Given the description of an element on the screen output the (x, y) to click on. 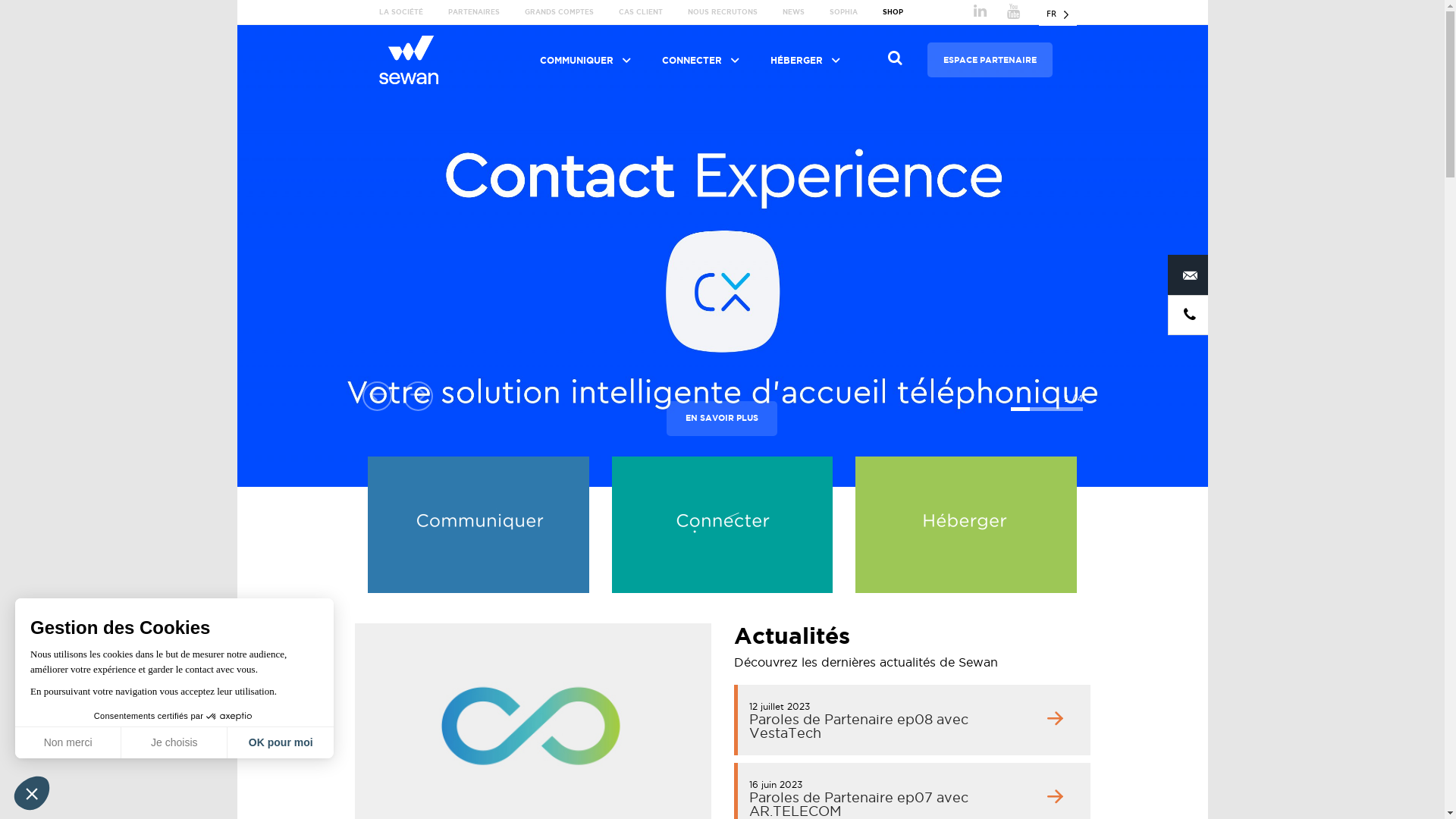
GRANDS COMPTES Element type: text (558, 11)
COMMUNIQUER Element type: text (583, 60)
Paroles de Partenaire ep07 avec AR.TELECOM Element type: text (858, 804)
Fermer le widget sans consentement Element type: hover (31, 793)
Je choisis Element type: text (174, 742)
CAS CLIENT Element type: text (640, 11)
OK pour moi Element type: text (280, 742)
SHOP Element type: text (892, 11)
ESPACE PARTENAIRE Element type: text (989, 59)
NEWS Element type: text (793, 11)
CONNECTER Element type: text (699, 60)
PARTENAIRES Element type: text (473, 11)
Non merci Element type: text (68, 742)
SOPHIA Element type: text (843, 11)
NOUS RECRUTONS Element type: text (722, 11)
Paroles de Partenaire ep08 avec VestaTech Element type: text (858, 726)
